Given the description of an element on the screen output the (x, y) to click on. 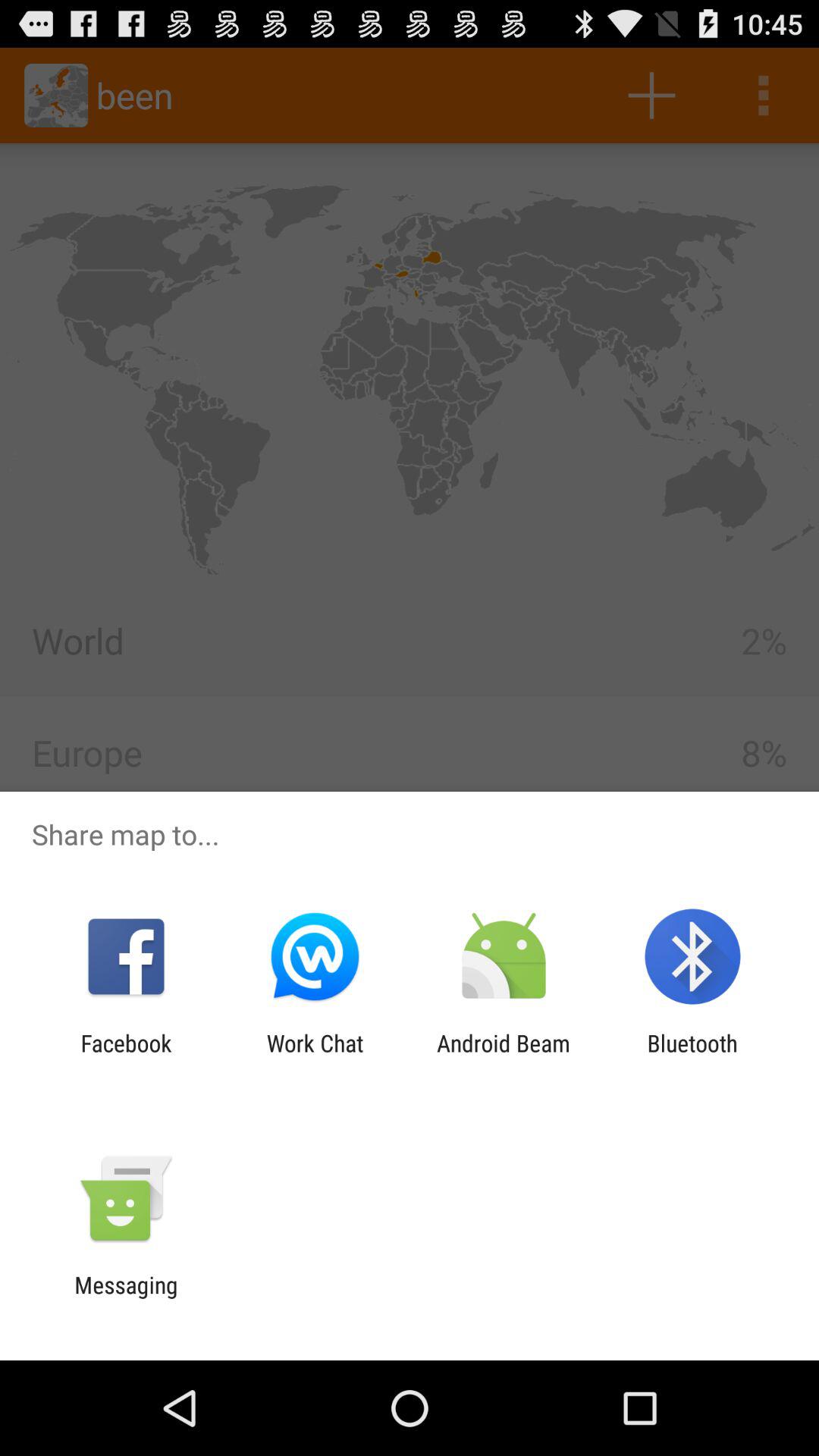
flip to the android beam app (503, 1056)
